Given the description of an element on the screen output the (x, y) to click on. 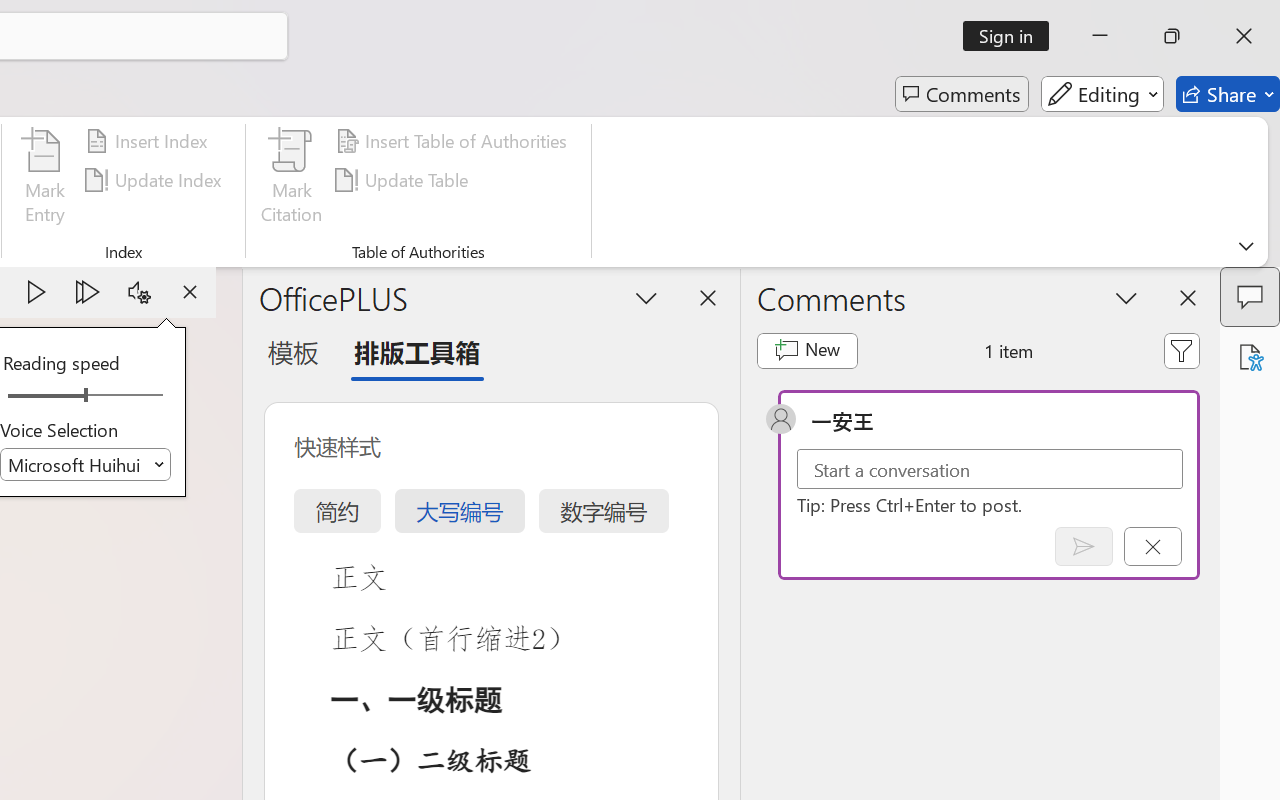
Editing (1101, 94)
New comment (806, 350)
Insert Table of Authorities... (453, 141)
Sign in (1012, 35)
Accessibility Assistant (1249, 357)
